Given the description of an element on the screen output the (x, y) to click on. 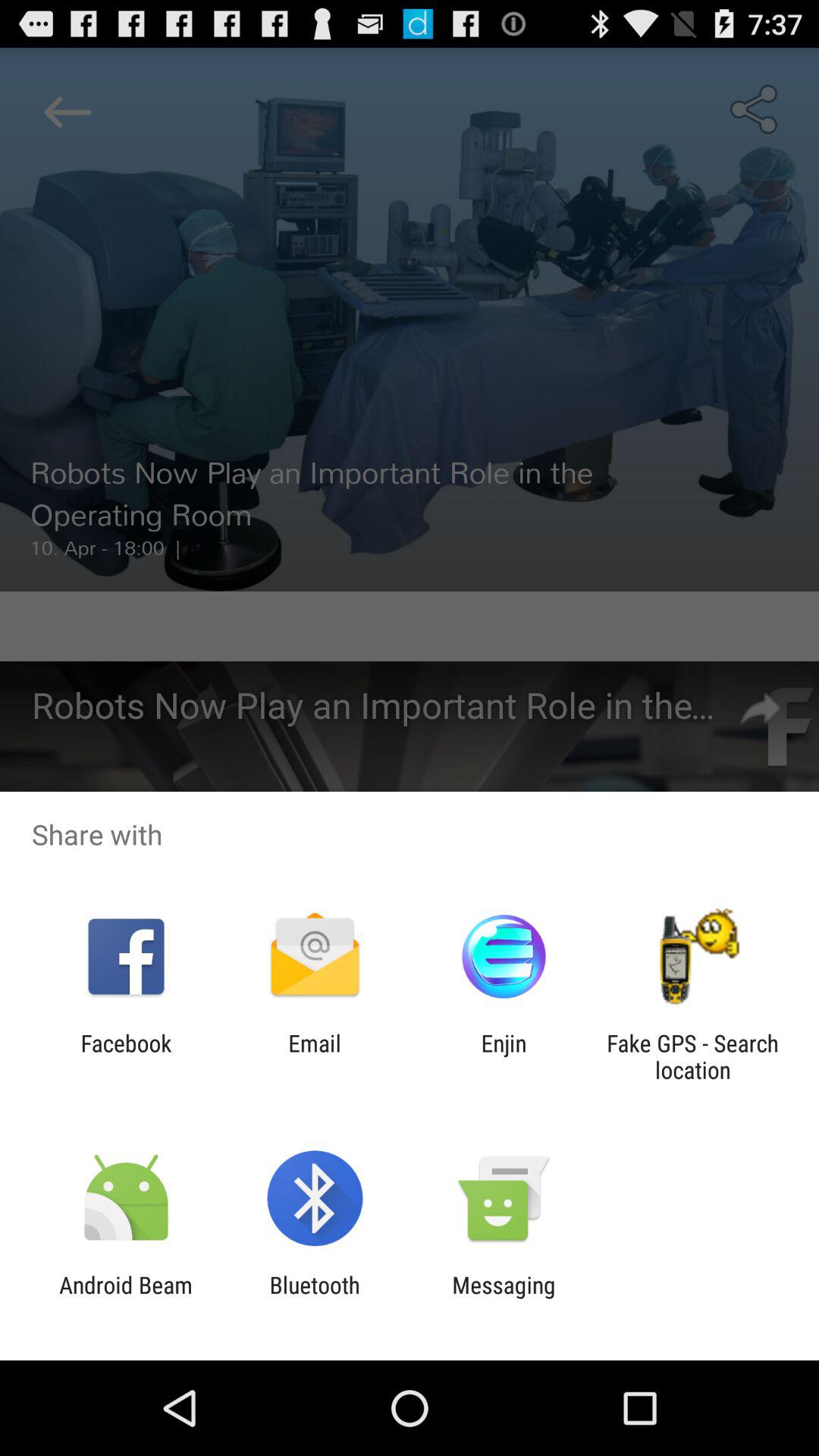
scroll to bluetooth (314, 1298)
